Given the description of an element on the screen output the (x, y) to click on. 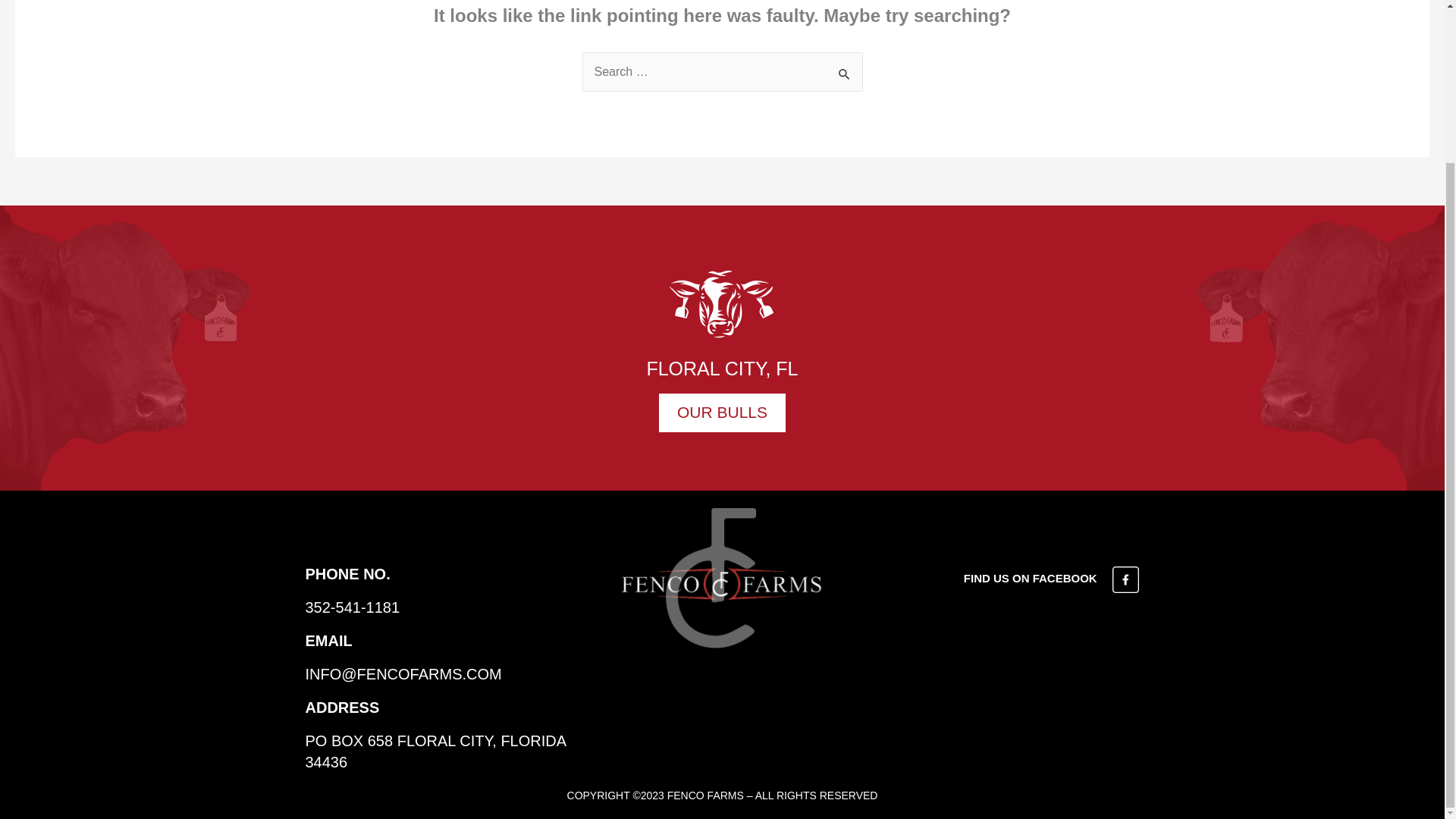
OUR BULLS (722, 412)
352-541-1181 (351, 606)
PO BOX 658 FLORAL CITY, FLORIDA 34436 (434, 751)
FIND US ON FACEBOOK      (1051, 577)
